Given the description of an element on the screen output the (x, y) to click on. 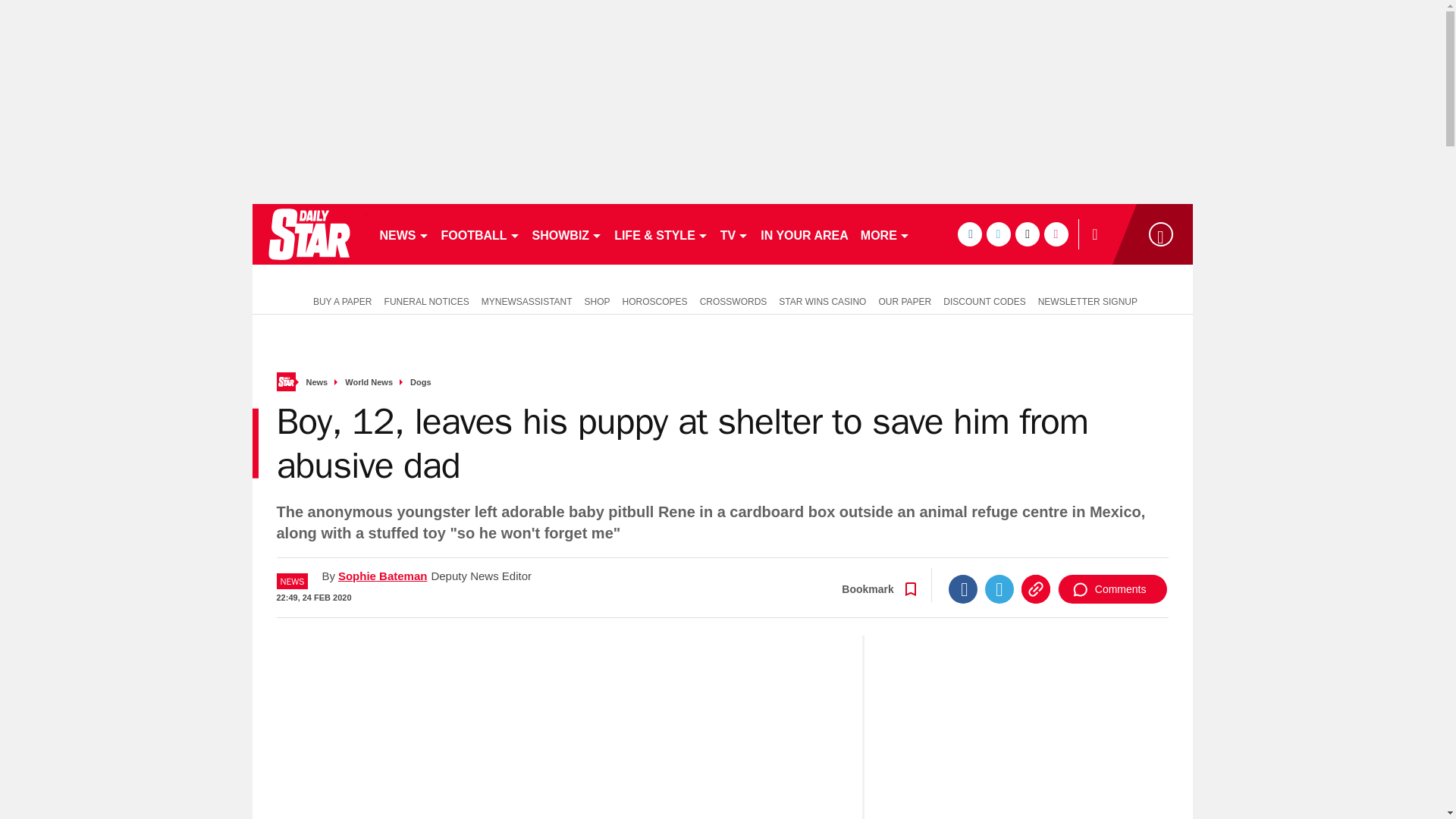
instagram (1055, 233)
tiktok (1026, 233)
twitter (997, 233)
Facebook (962, 588)
SHOWBIZ (566, 233)
Comments (1112, 588)
FOOTBALL (480, 233)
NEWS (402, 233)
dailystar (308, 233)
Twitter (999, 588)
